Given the description of an element on the screen output the (x, y) to click on. 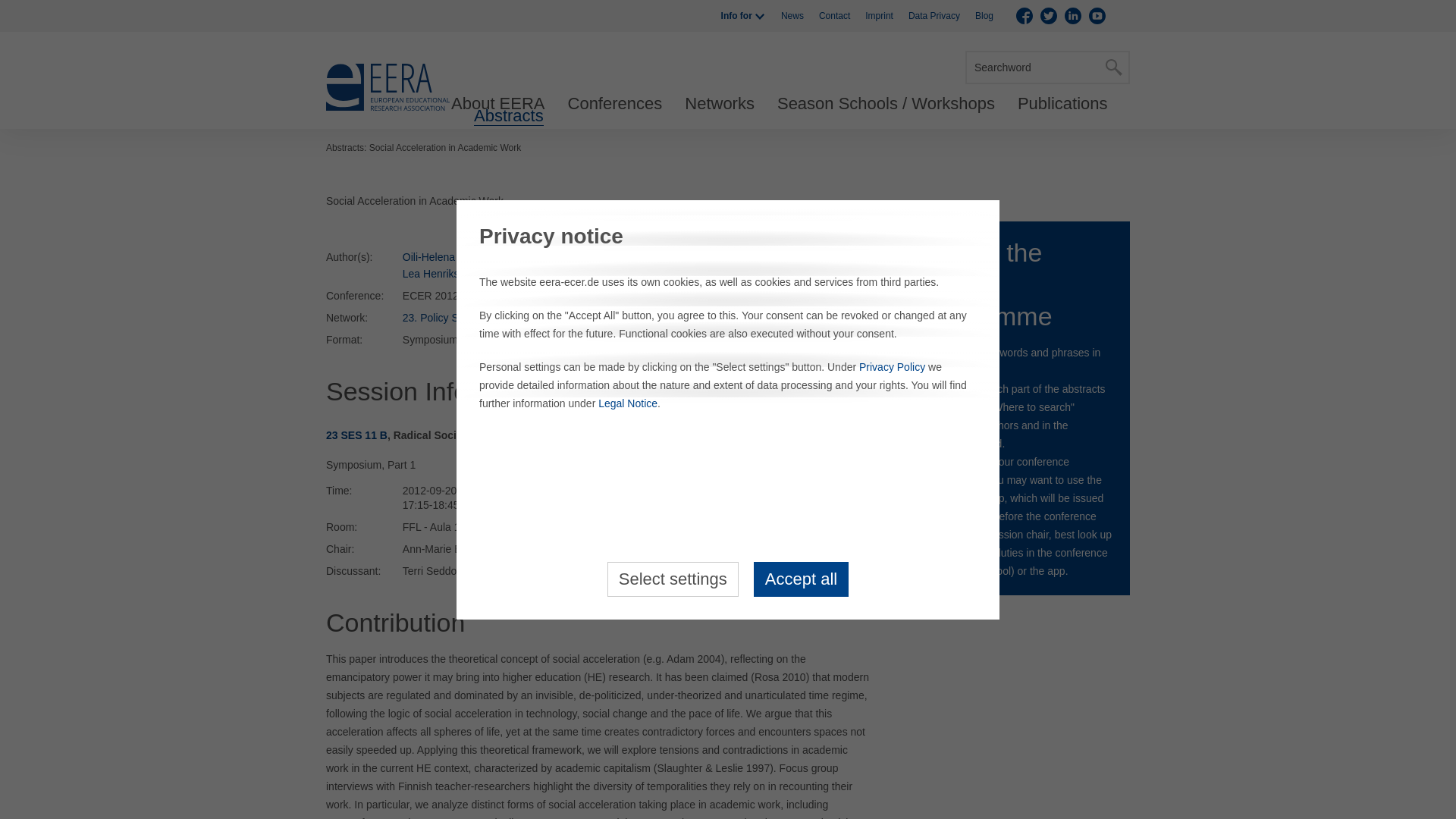
Accept all (801, 578)
Legal Notice (628, 403)
Contact (833, 15)
News (791, 15)
Linkedin (1072, 15)
Search (1113, 67)
Select settings (672, 578)
YouTube (1097, 15)
Imprint (879, 15)
Legal Notice (628, 403)
Data Privacy (934, 15)
Privacy Policy (891, 367)
Blog (984, 15)
RSS (1121, 15)
Info for (743, 15)
